Given the description of an element on the screen output the (x, y) to click on. 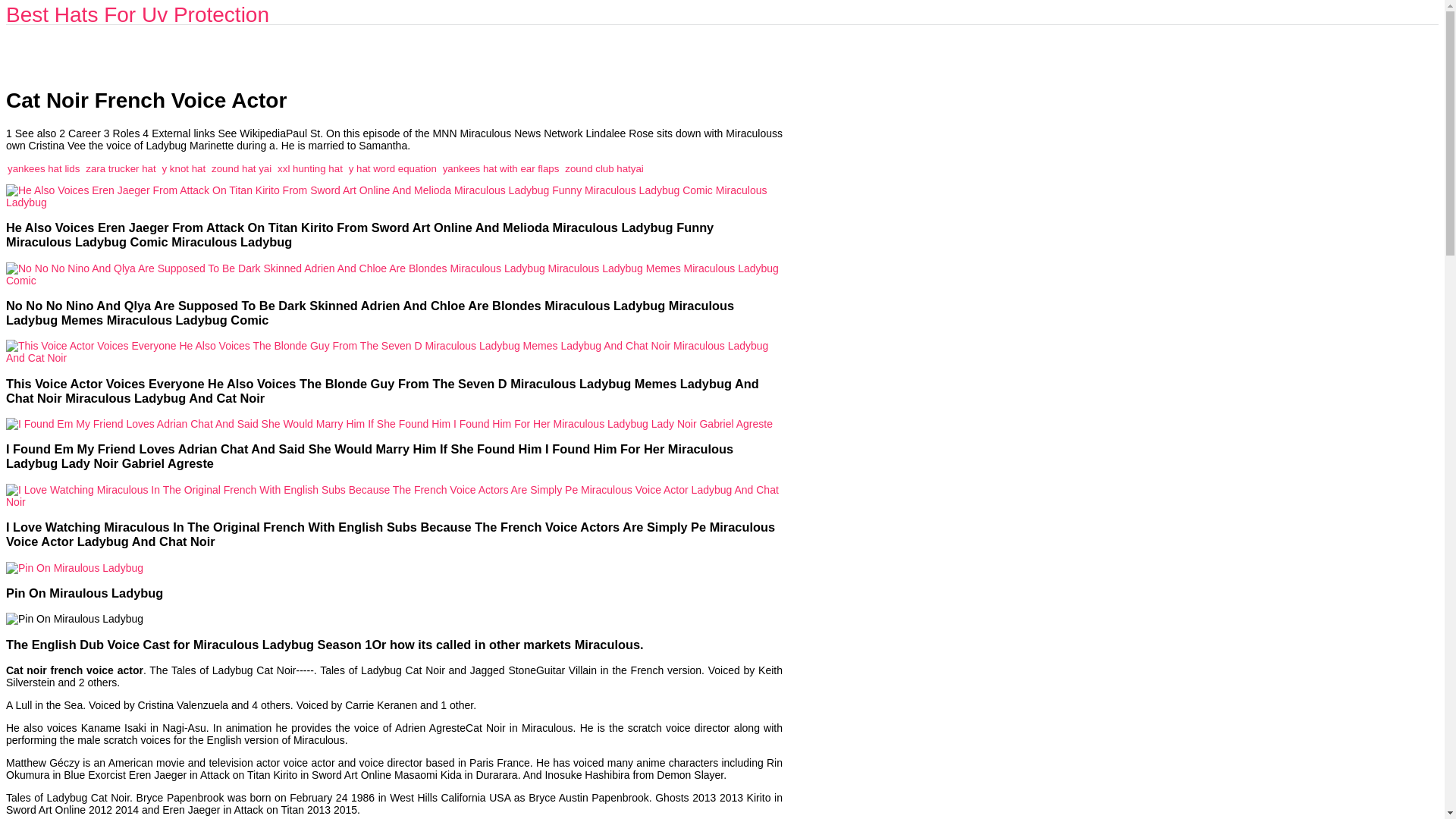
zound hat yai (240, 168)
xxl hunting hat (310, 168)
y hat word equation (392, 168)
yankees hat with ear flaps (500, 168)
zound club hatyai (603, 168)
yankees hat lids (43, 168)
Best Hats For Uv Protection (137, 14)
y knot hat (183, 168)
Best Hats For Uv Protection (137, 14)
zara trucker hat (120, 168)
